Given the description of an element on the screen output the (x, y) to click on. 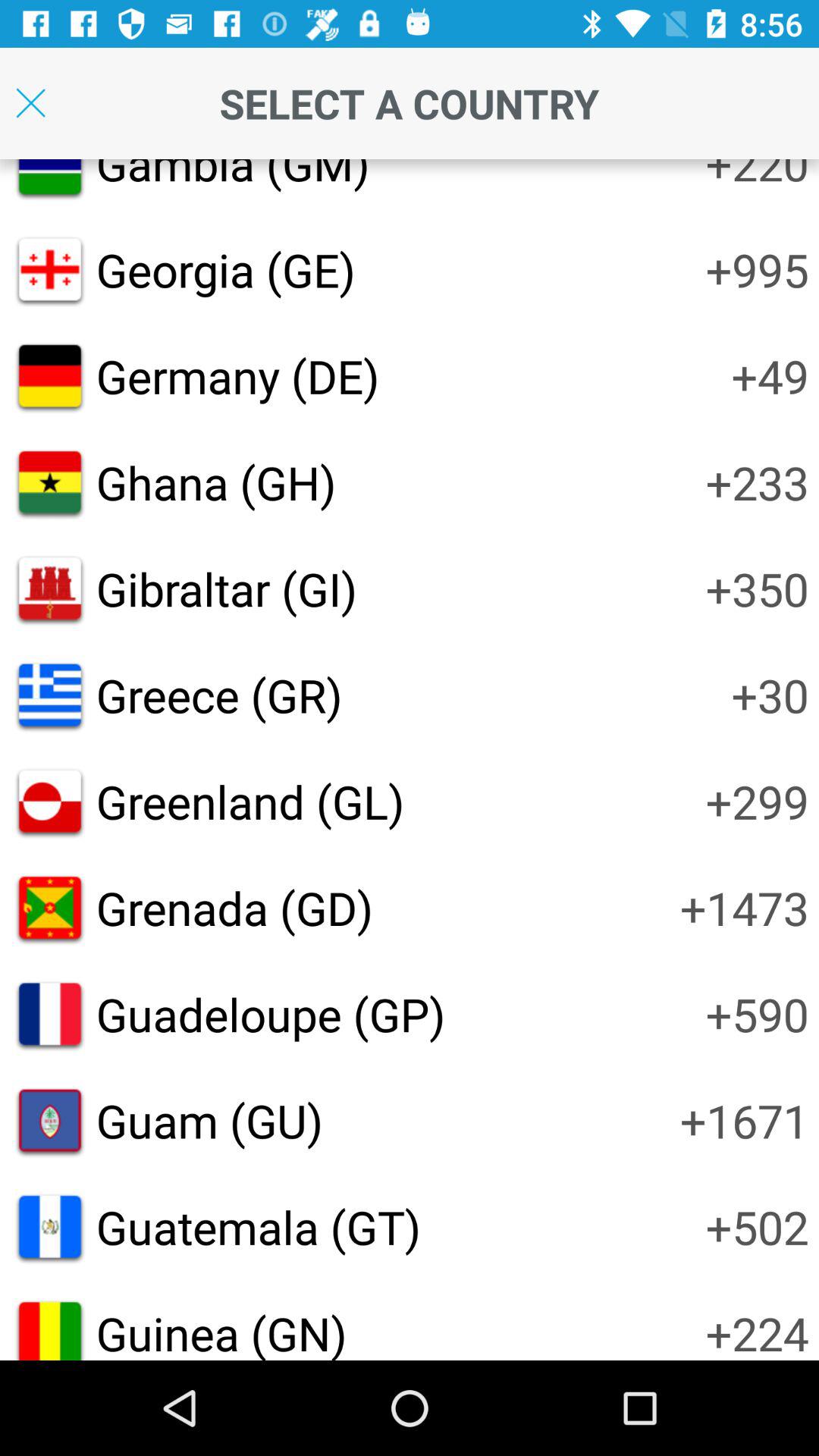
select icon above the +995 icon (756, 176)
